Given the description of an element on the screen output the (x, y) to click on. 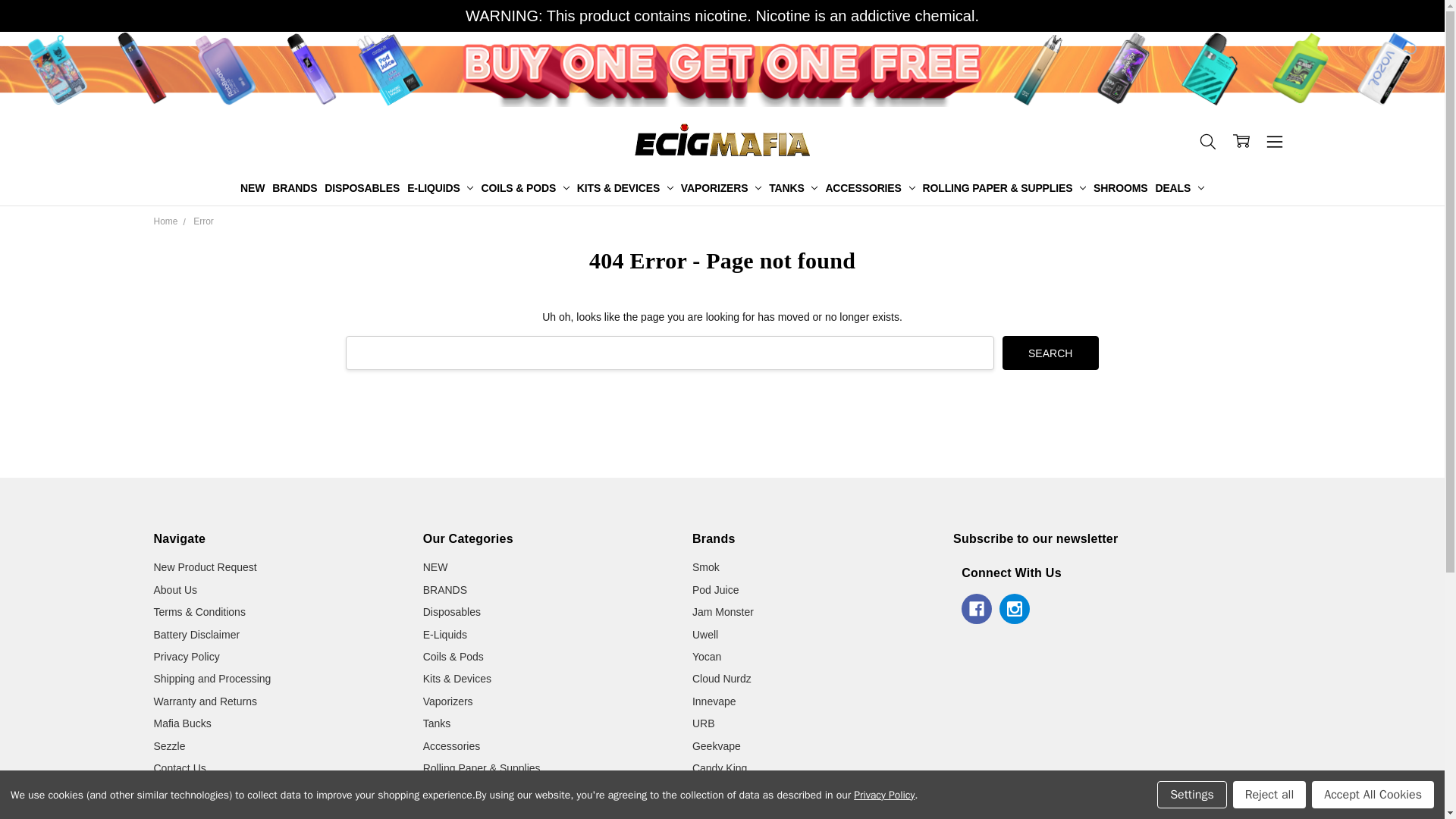
ECigMafia (721, 140)
Search (1051, 352)
Show All (733, 188)
BRANDS (293, 188)
E-LIQUIDS (440, 188)
NEW (251, 188)
DISPOSABLES (361, 188)
